Given the description of an element on the screen output the (x, y) to click on. 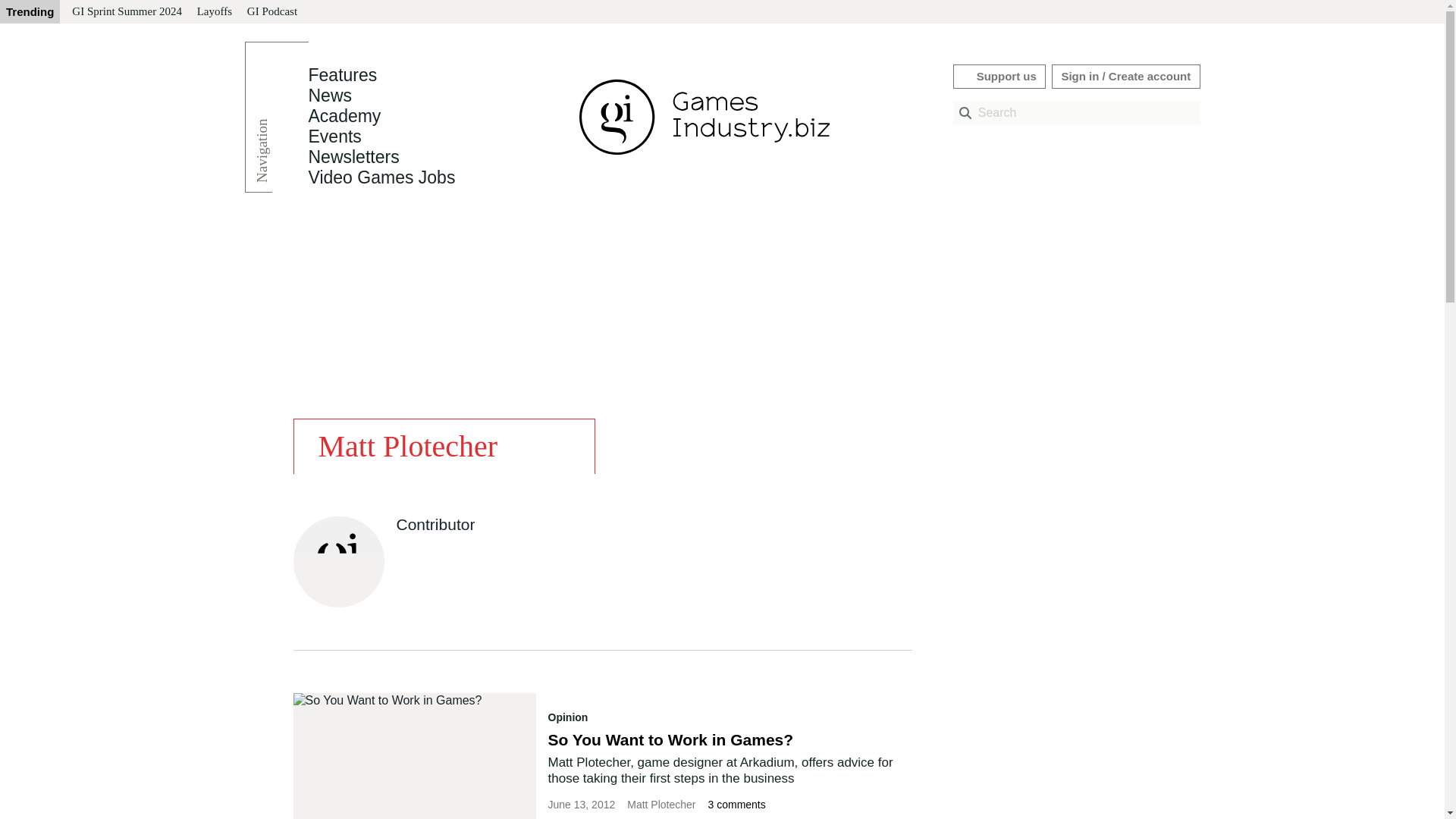
3 comments (736, 804)
Features (342, 75)
Academy (343, 116)
Features (342, 75)
News (329, 95)
Newsletters (352, 157)
So You Want to Work in Games? (670, 739)
Events (334, 136)
Academy (343, 116)
Layoffs (214, 11)
Video Games Jobs (380, 177)
Newsletters (352, 157)
Video Games Jobs (380, 177)
GI Podcast (271, 11)
GI Sprint Summer 2024 (126, 11)
